Given the description of an element on the screen output the (x, y) to click on. 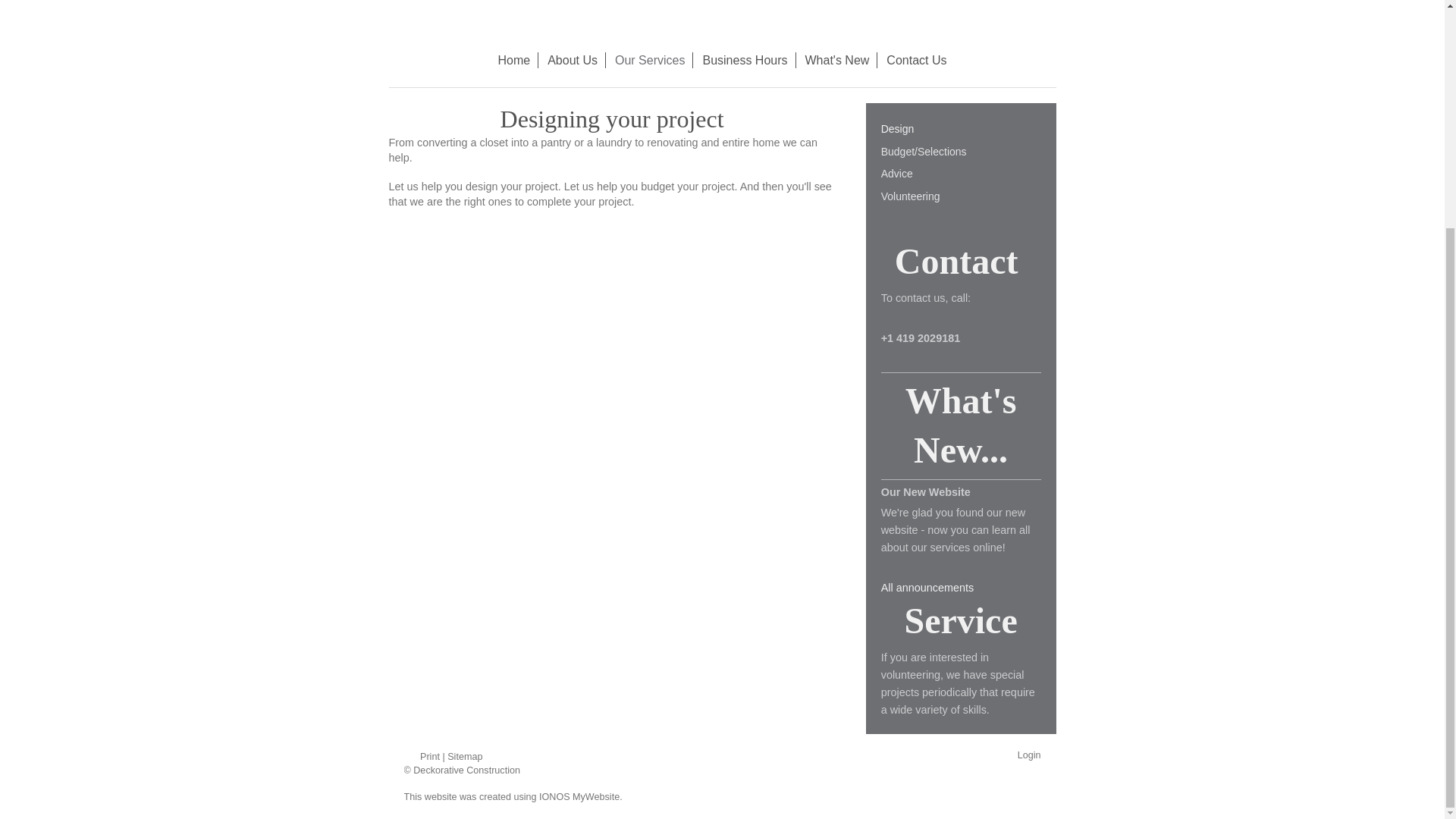
Volunteering (960, 196)
Sitemap (463, 756)
Business Hours (744, 59)
All announcements (927, 587)
Contact Us (916, 59)
Design (960, 128)
Home (513, 59)
Our Services (650, 59)
Print (422, 756)
About Us (572, 59)
